Given the description of an element on the screen output the (x, y) to click on. 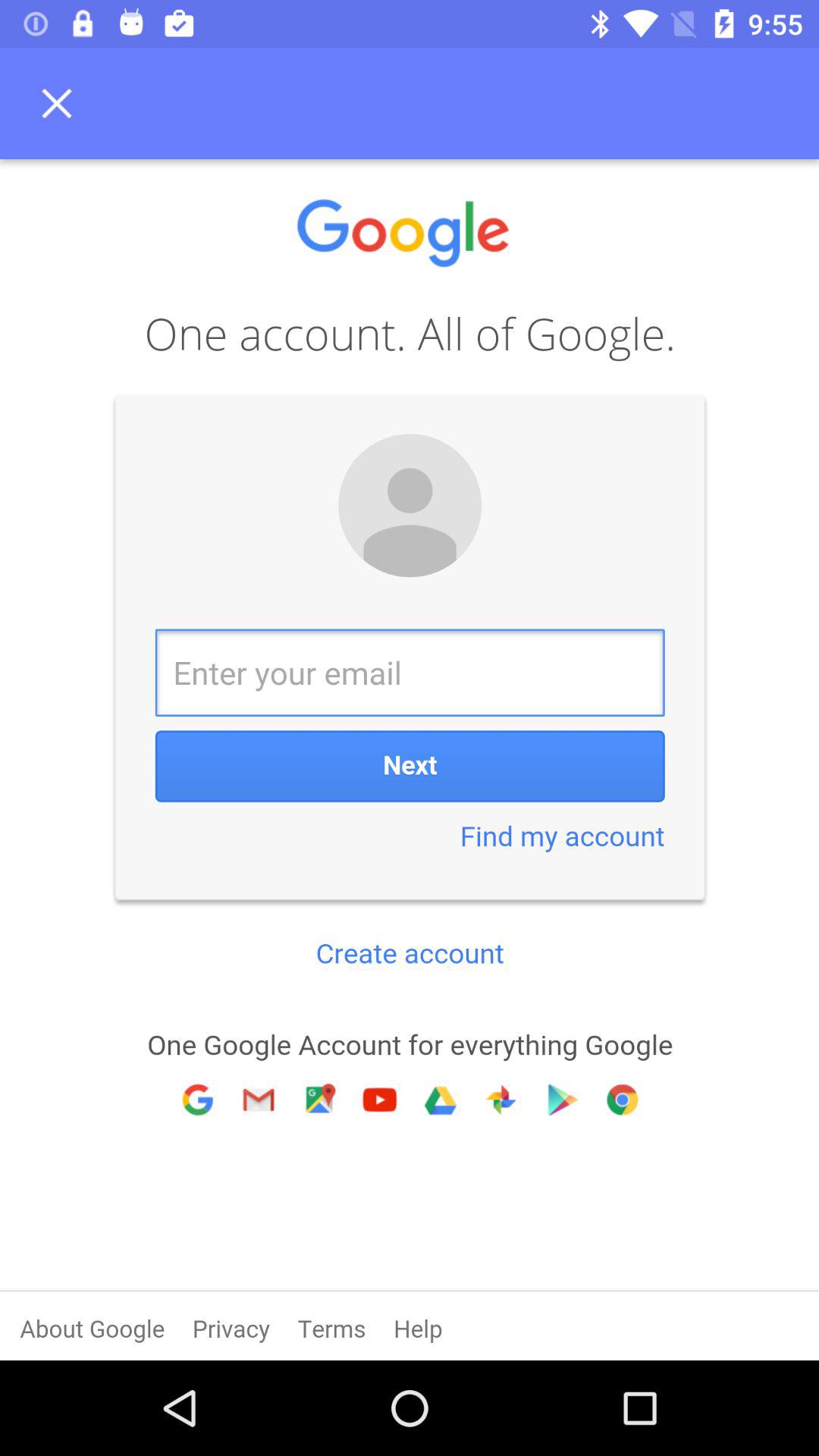
profaneness (409, 759)
